Given the description of an element on the screen output the (x, y) to click on. 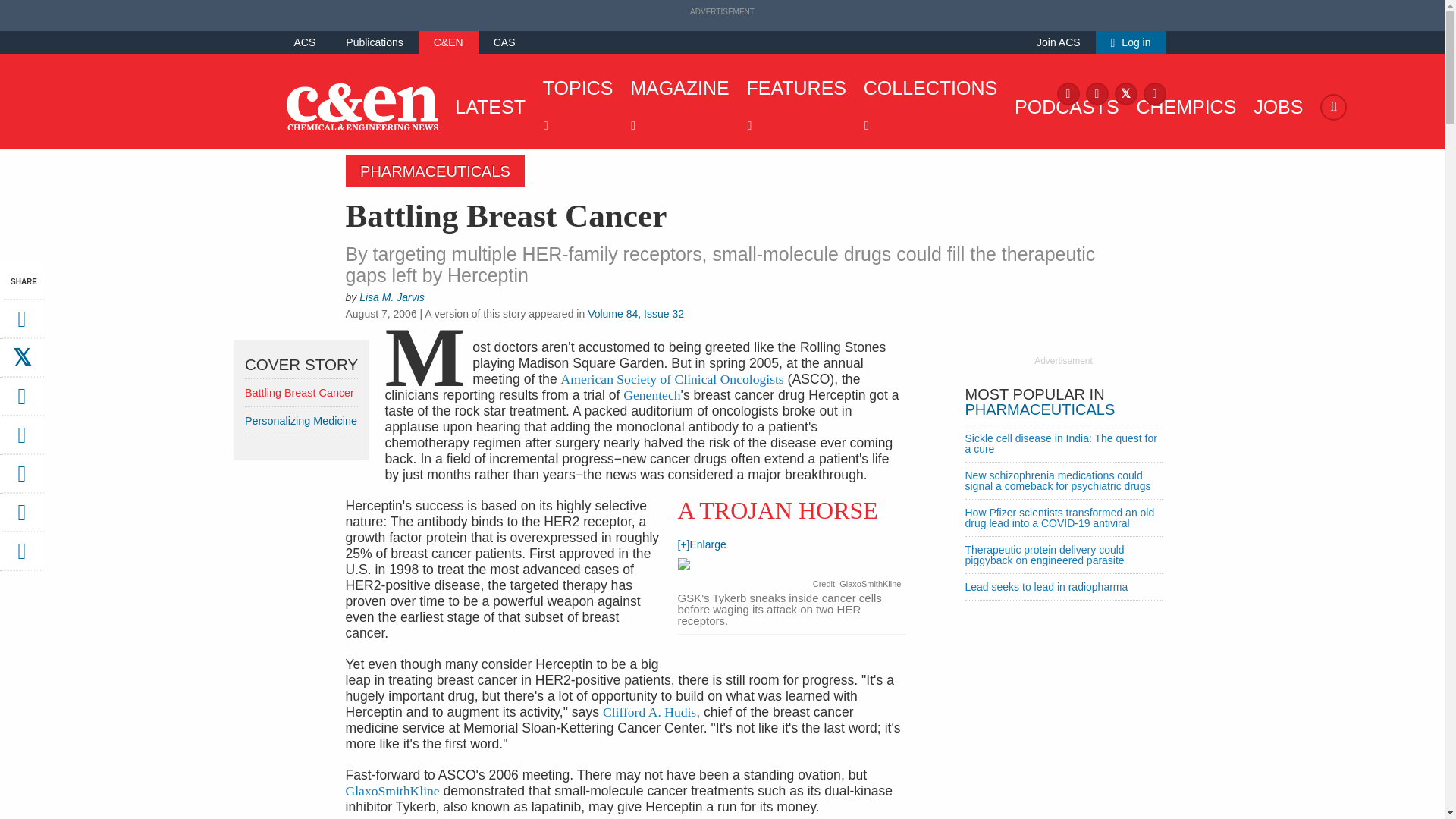
Publications (374, 42)
LATEST (485, 106)
WeChat (21, 479)
CAS (504, 42)
TOPICS (573, 106)
Instagram (1097, 92)
Log in (1130, 42)
Join ACS (1058, 42)
LinkedIn (1154, 92)
Facebook (1068, 92)
